Given the description of an element on the screen output the (x, y) to click on. 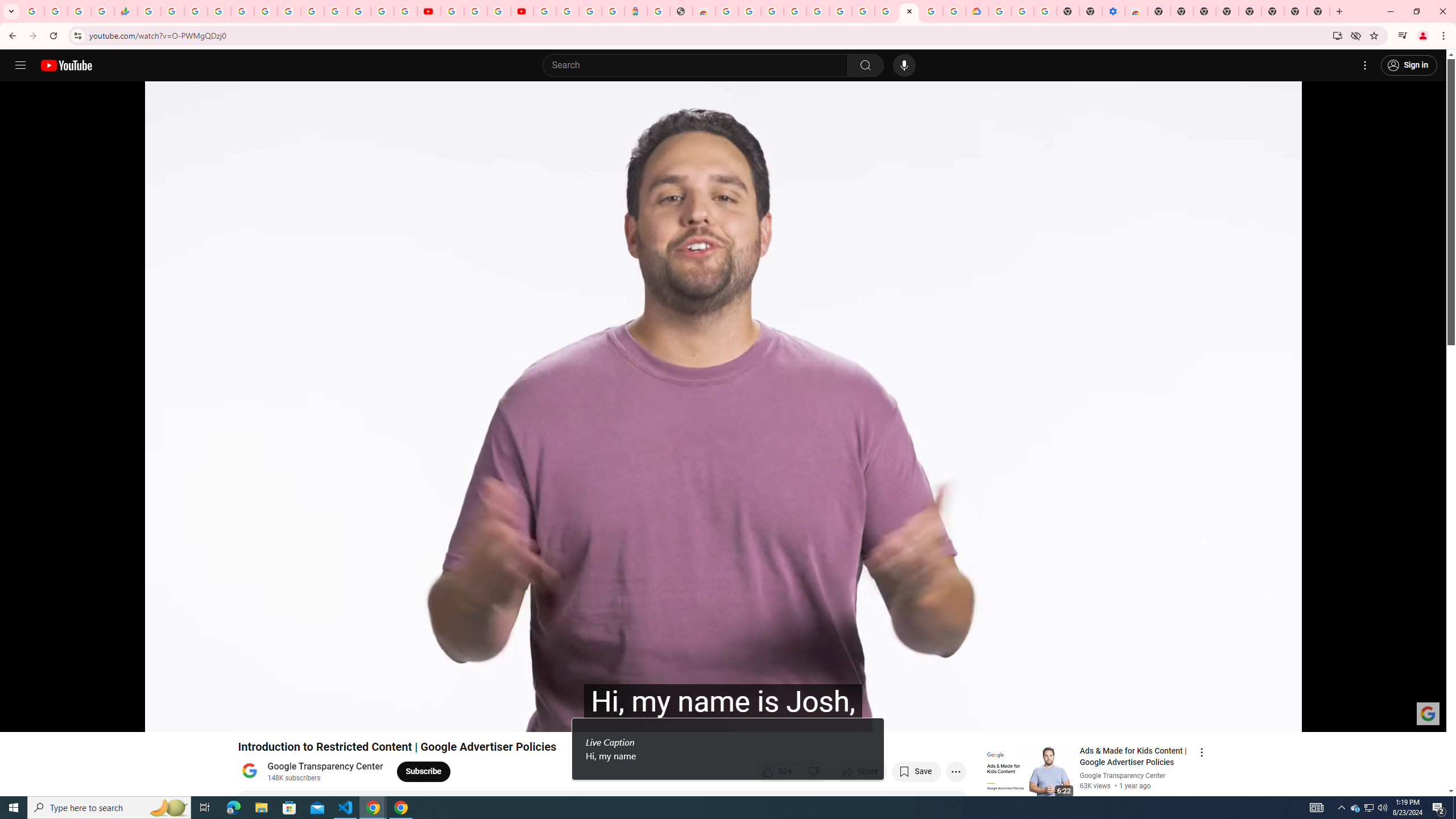
Subscribe to Google Transparency Center. (423, 771)
Sign in - Google Accounts (999, 11)
Android TV Policies and Guidelines - Transparency Center (885, 11)
Third-party cookies blocked (1355, 35)
Google Account Help (1022, 11)
Theater mode (t) (1398, 718)
Mute (m) (73, 718)
Share (861, 771)
